Given the description of an element on the screen output the (x, y) to click on. 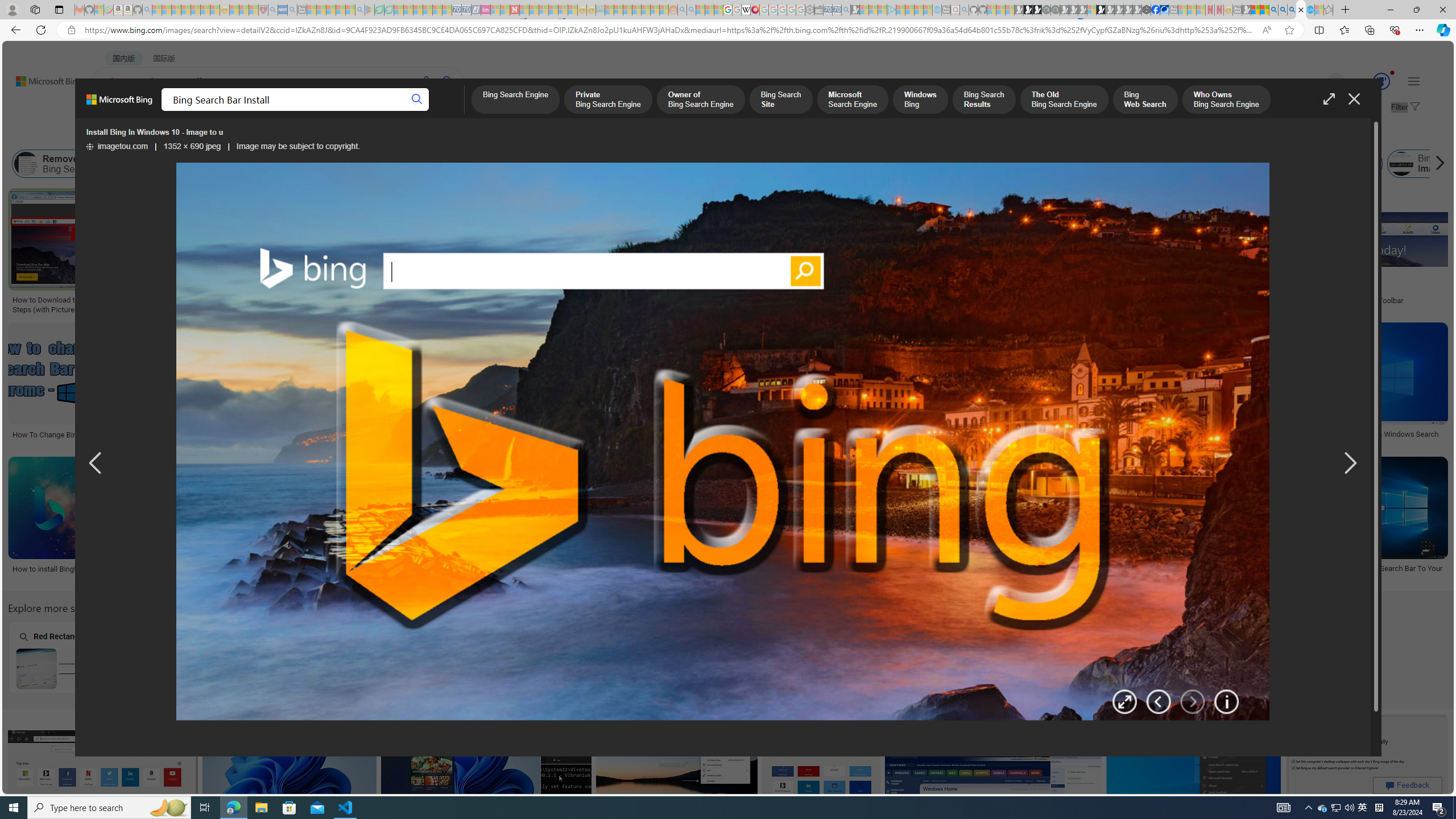
2:44 (572, 332)
Bing Search Results (984, 100)
Bing Desktop Search Bar (231, 163)
People (295, 135)
Bing Menu Bar (1339, 163)
WEB (114, 111)
imagetou.com (116, 146)
MORE (451, 111)
